Given the description of an element on the screen output the (x, y) to click on. 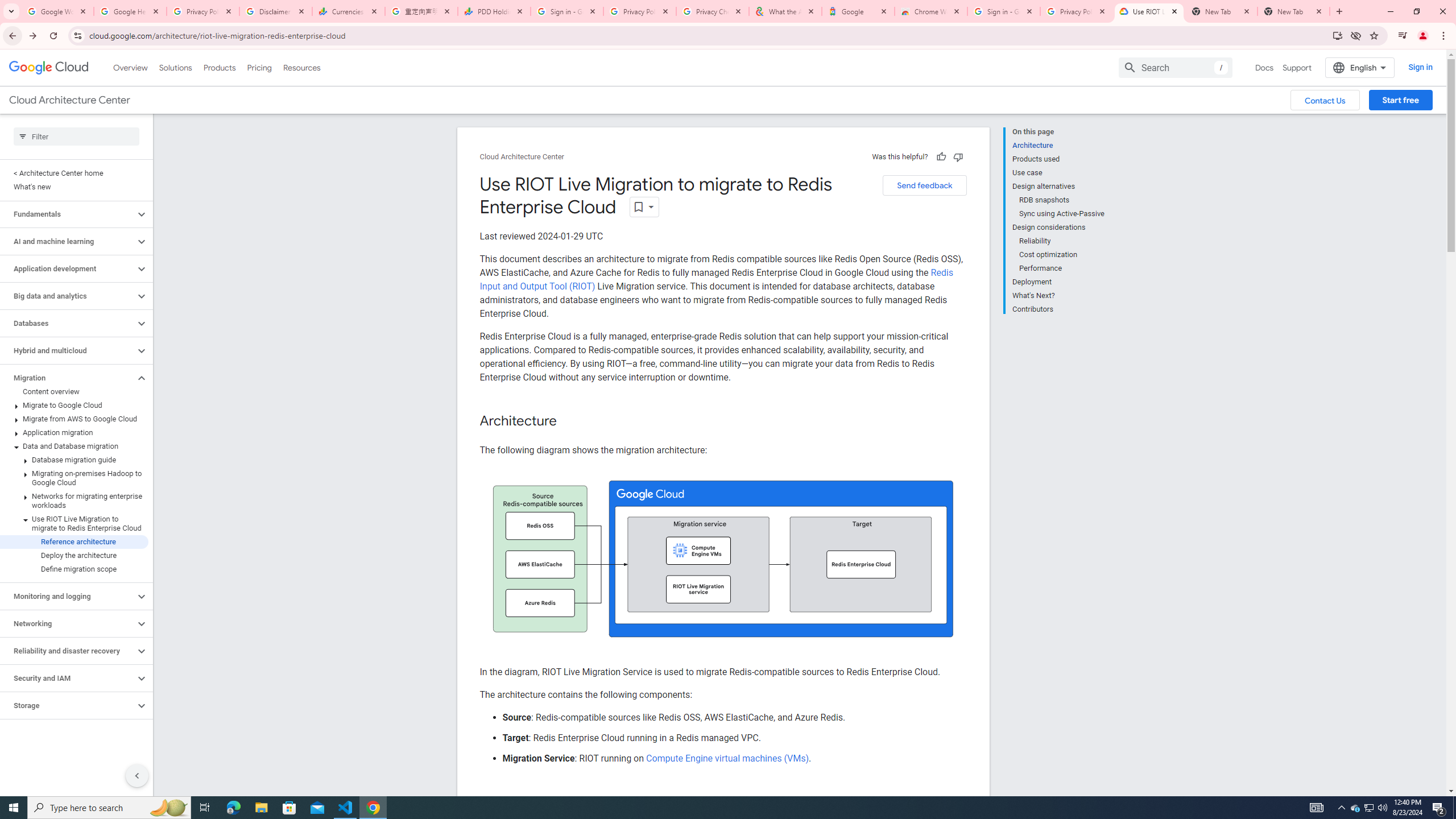
Hide side navigation (136, 775)
Install Google Cloud (1336, 35)
Products (218, 67)
Reference architecture (74, 541)
Contact Us (1324, 100)
Start free (1400, 100)
Design alternatives (1058, 186)
